Given the description of an element on the screen output the (x, y) to click on. 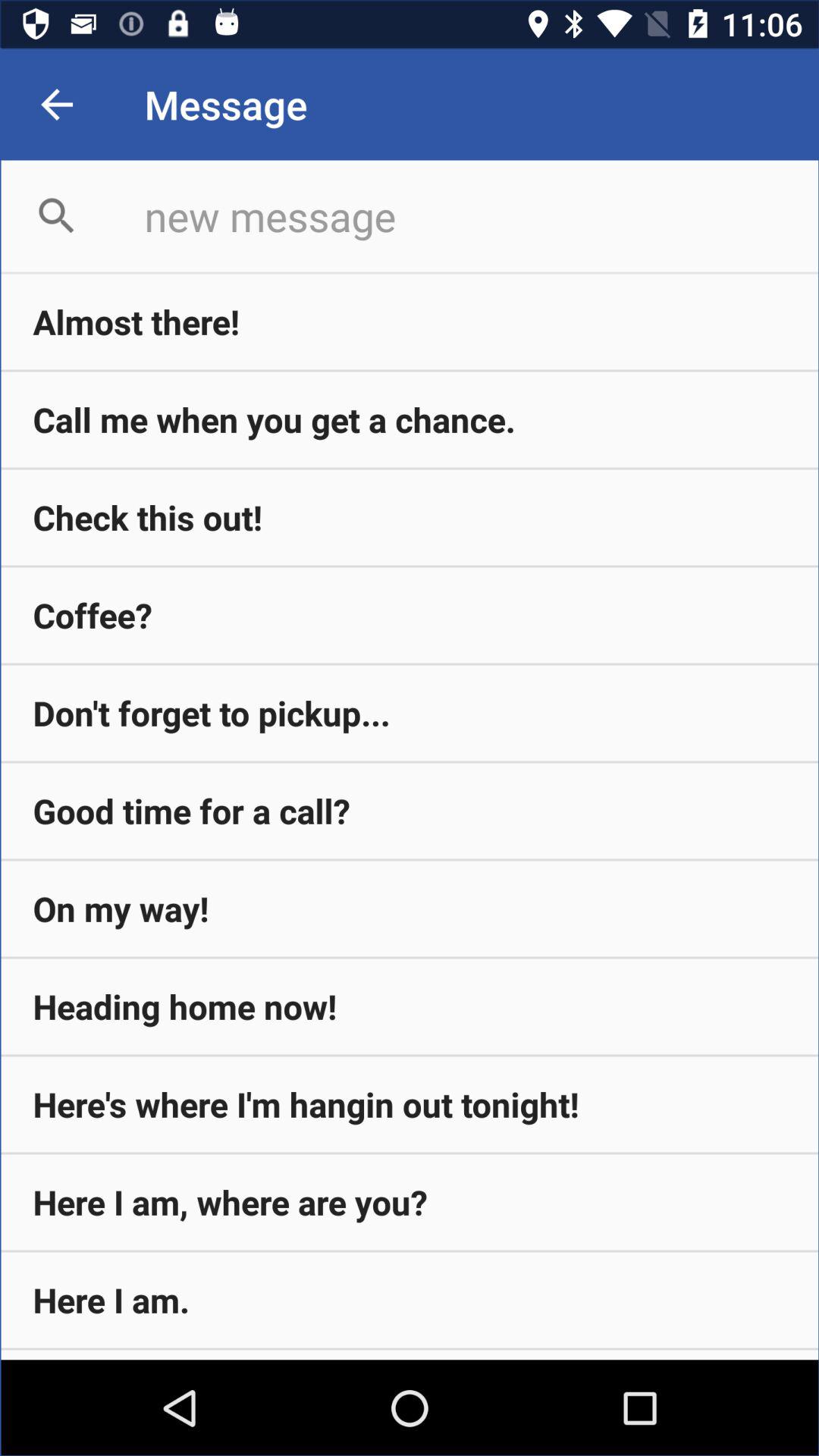
jump until good time for (409, 810)
